Given the description of an element on the screen output the (x, y) to click on. 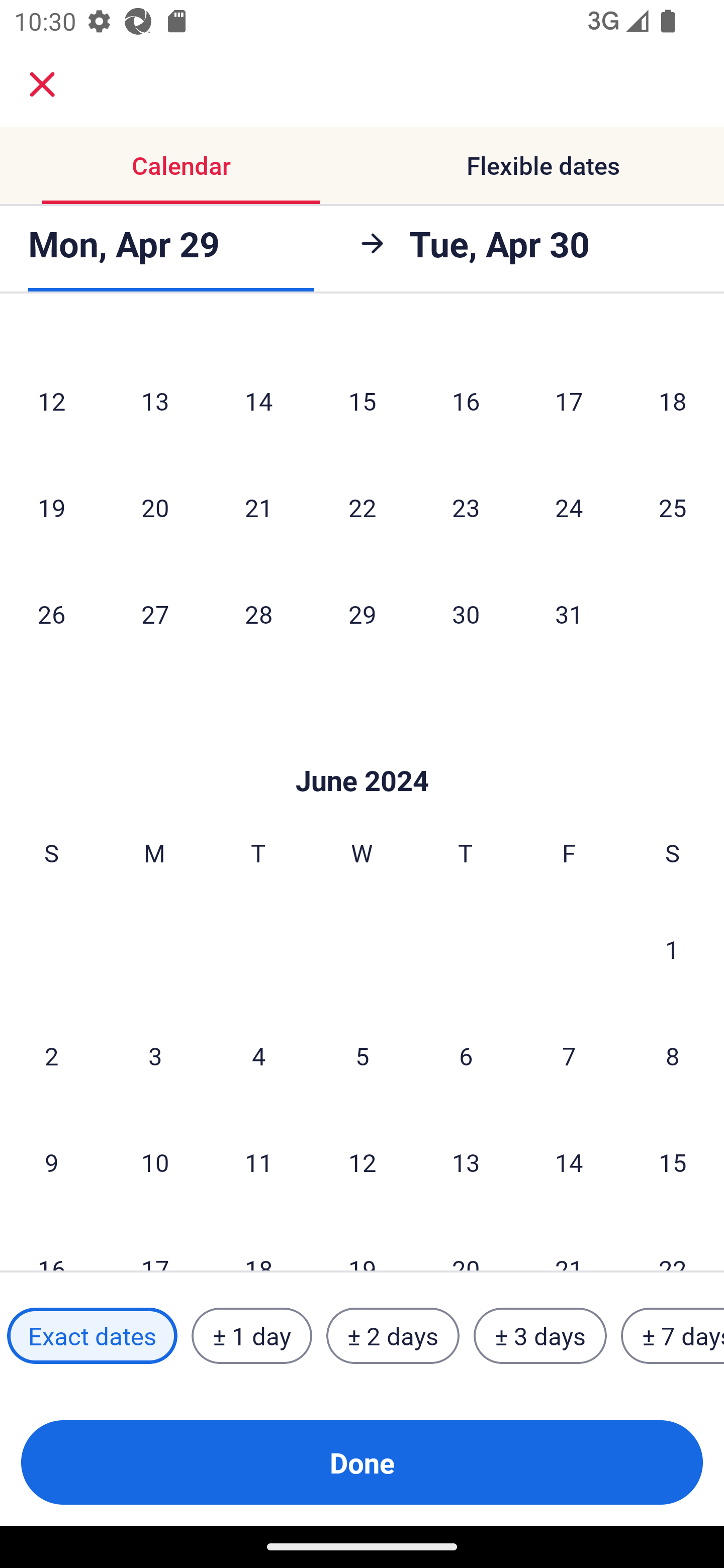
close. (42, 84)
Flexible dates (542, 164)
12 Sunday, May 12, 2024 (51, 400)
13 Monday, May 13, 2024 (155, 400)
14 Tuesday, May 14, 2024 (258, 400)
15 Wednesday, May 15, 2024 (362, 400)
16 Thursday, May 16, 2024 (465, 400)
17 Friday, May 17, 2024 (569, 400)
18 Saturday, May 18, 2024 (672, 400)
19 Sunday, May 19, 2024 (51, 507)
20 Monday, May 20, 2024 (155, 507)
21 Tuesday, May 21, 2024 (258, 507)
22 Wednesday, May 22, 2024 (362, 507)
23 Thursday, May 23, 2024 (465, 507)
24 Friday, May 24, 2024 (569, 507)
25 Saturday, May 25, 2024 (672, 507)
26 Sunday, May 26, 2024 (51, 613)
27 Monday, May 27, 2024 (155, 613)
28 Tuesday, May 28, 2024 (258, 613)
29 Wednesday, May 29, 2024 (362, 613)
30 Thursday, May 30, 2024 (465, 613)
31 Friday, May 31, 2024 (569, 613)
Skip to Done (362, 750)
1 Saturday, June 1, 2024 (672, 948)
2 Sunday, June 2, 2024 (51, 1055)
3 Monday, June 3, 2024 (155, 1055)
4 Tuesday, June 4, 2024 (258, 1055)
5 Wednesday, June 5, 2024 (362, 1055)
6 Thursday, June 6, 2024 (465, 1055)
7 Friday, June 7, 2024 (569, 1055)
8 Saturday, June 8, 2024 (672, 1055)
9 Sunday, June 9, 2024 (51, 1161)
10 Monday, June 10, 2024 (155, 1161)
11 Tuesday, June 11, 2024 (258, 1161)
12 Wednesday, June 12, 2024 (362, 1161)
13 Thursday, June 13, 2024 (465, 1161)
14 Friday, June 14, 2024 (569, 1161)
15 Saturday, June 15, 2024 (672, 1161)
Exact dates (92, 1335)
± 1 day (251, 1335)
± 2 days (392, 1335)
± 3 days (539, 1335)
± 7 days (672, 1335)
Done (361, 1462)
